Given the description of an element on the screen output the (x, y) to click on. 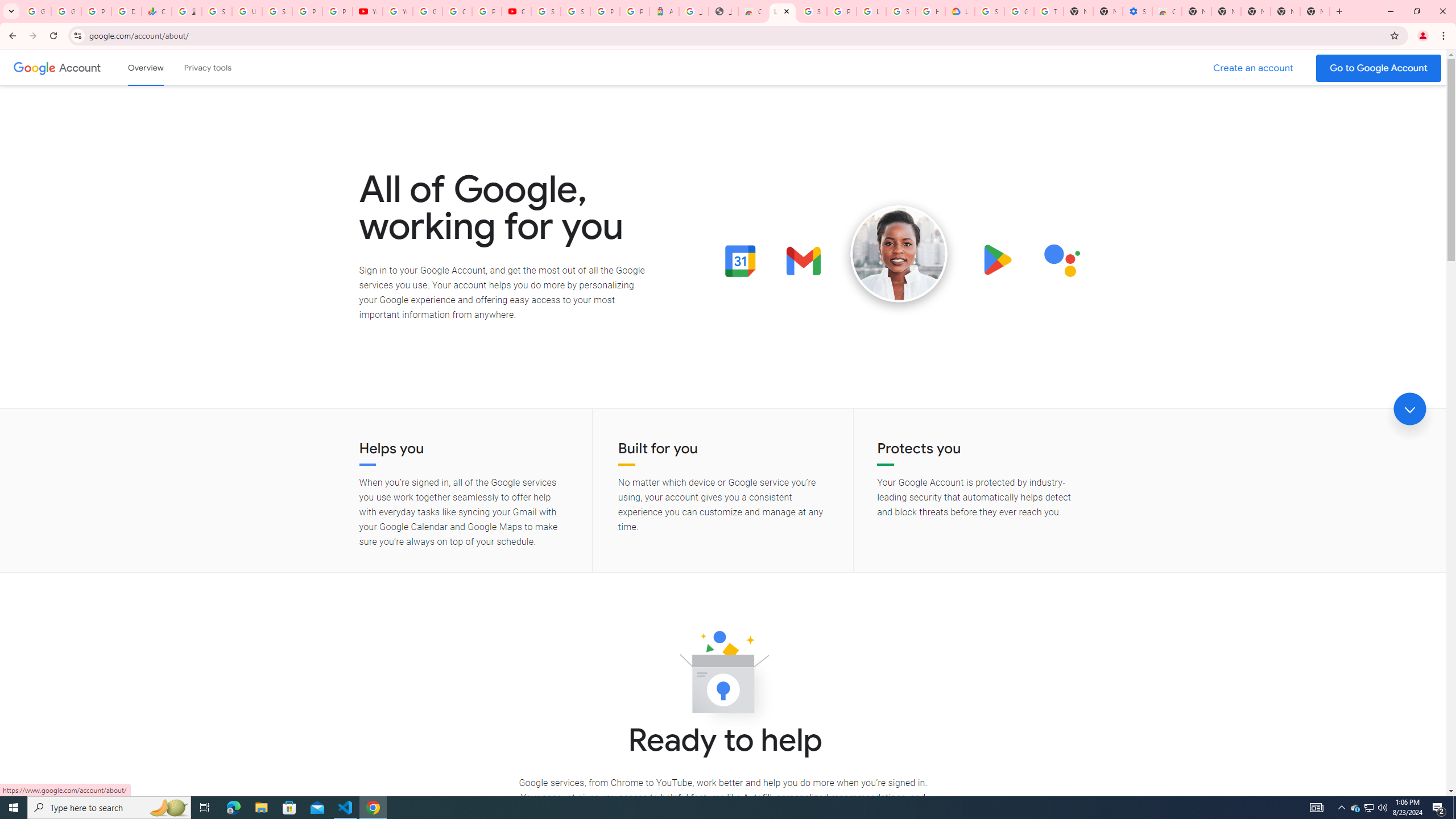
Google logo (34, 67)
Privacy Checkup (337, 11)
Bookmark this tab (1393, 35)
Create your Google Account (456, 11)
New Tab (1314, 11)
You (1422, 35)
Back (10, 35)
Google Account Help (426, 11)
